Given the description of an element on the screen output the (x, y) to click on. 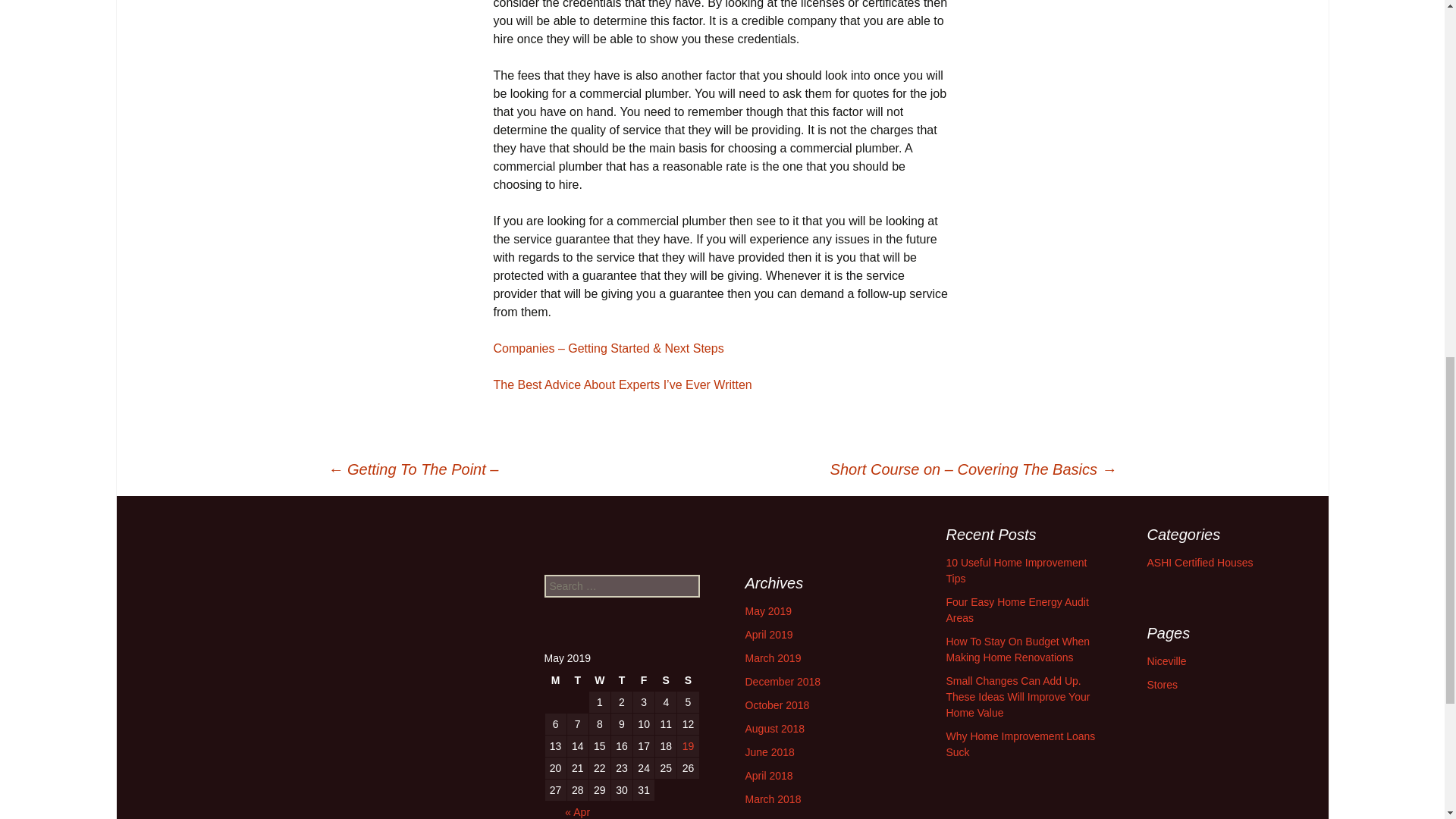
December 2018 (782, 681)
May 2019 (767, 611)
Saturday (666, 680)
August 2018 (774, 728)
Tuesday (577, 680)
June 2018 (768, 752)
April 2018 (768, 775)
Thursday (621, 680)
Wednesday (599, 680)
19 (687, 745)
ASHI Certified Houses (1199, 562)
Why Home Improvement Loans Suck (1021, 744)
March 2018 (772, 799)
Stores (1161, 684)
